Given the description of an element on the screen output the (x, y) to click on. 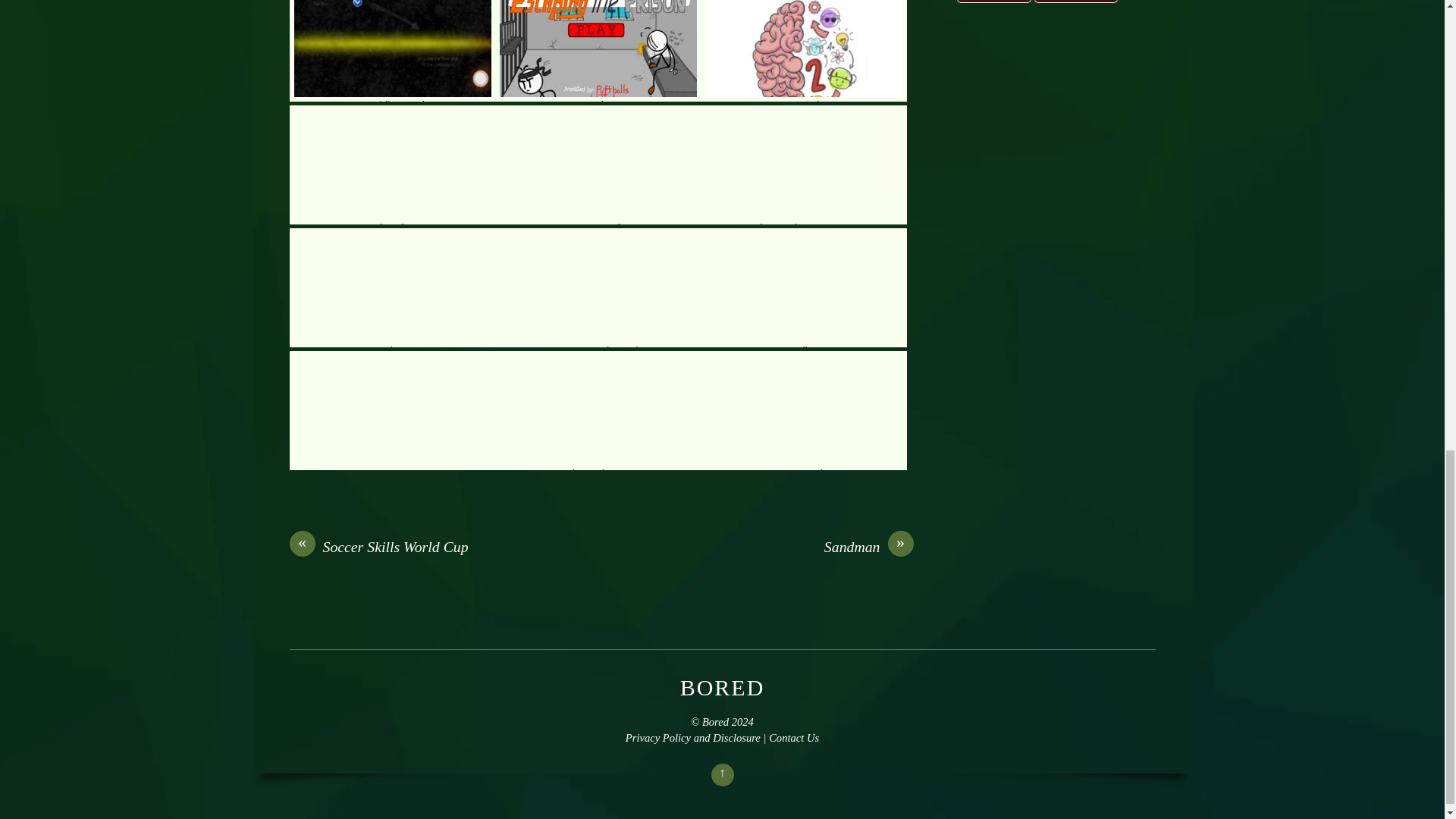
Seedling (803, 287)
Atomic Puzzle (597, 164)
Brain Test: Tricky Puzzles (597, 287)
Screw the Nut 2 (392, 287)
Brain Test 2: Tricky Stories (803, 50)
Gravity Soccer 3 (392, 410)
Atomic Puzzle 2 (803, 410)
Escaping The Prison (597, 50)
The Cube (392, 164)
Barbie Traveling Expert Game (803, 164)
